Given the description of an element on the screen output the (x, y) to click on. 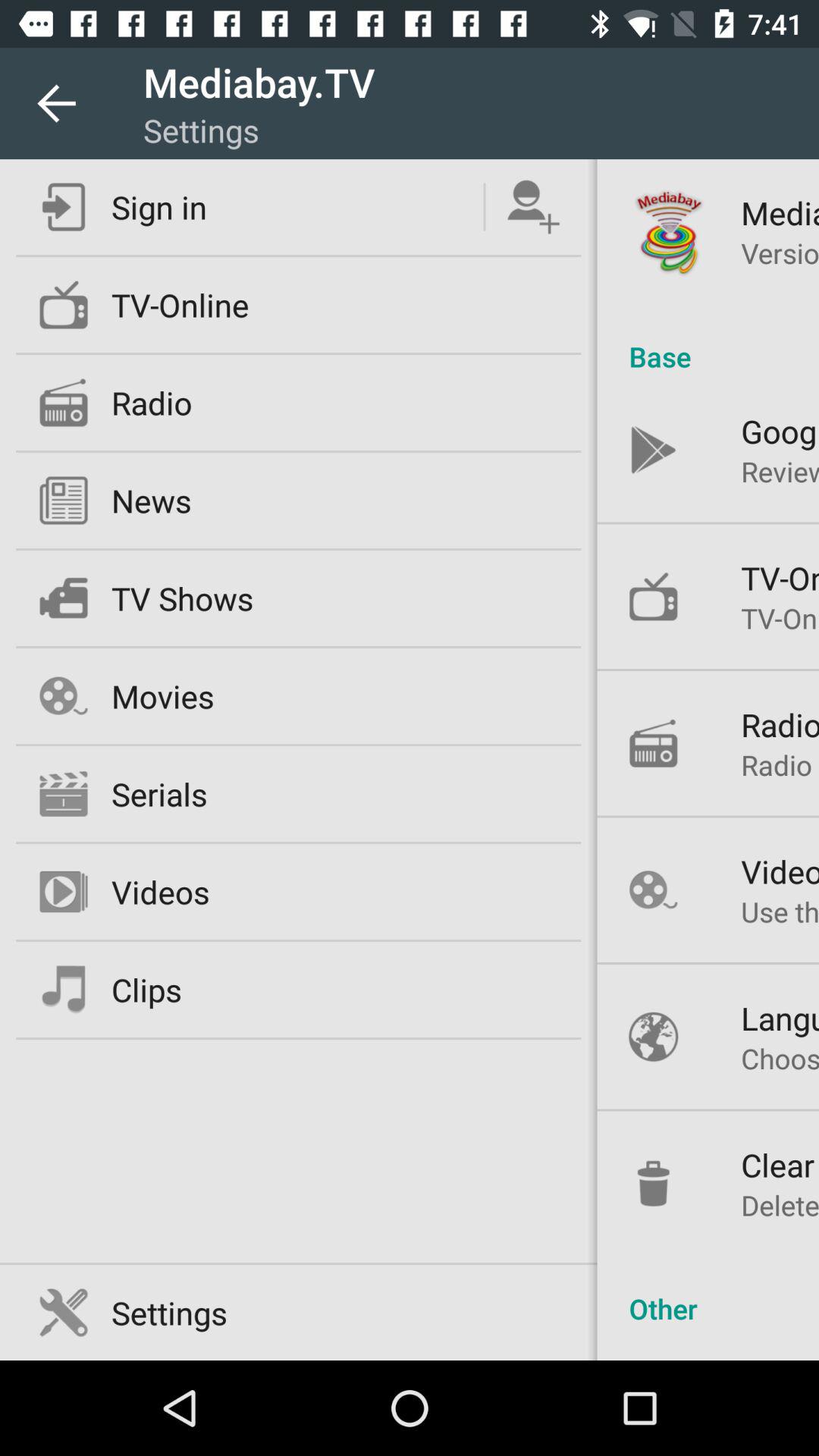
launch icon above the review this app item (780, 430)
